Given the description of an element on the screen output the (x, y) to click on. 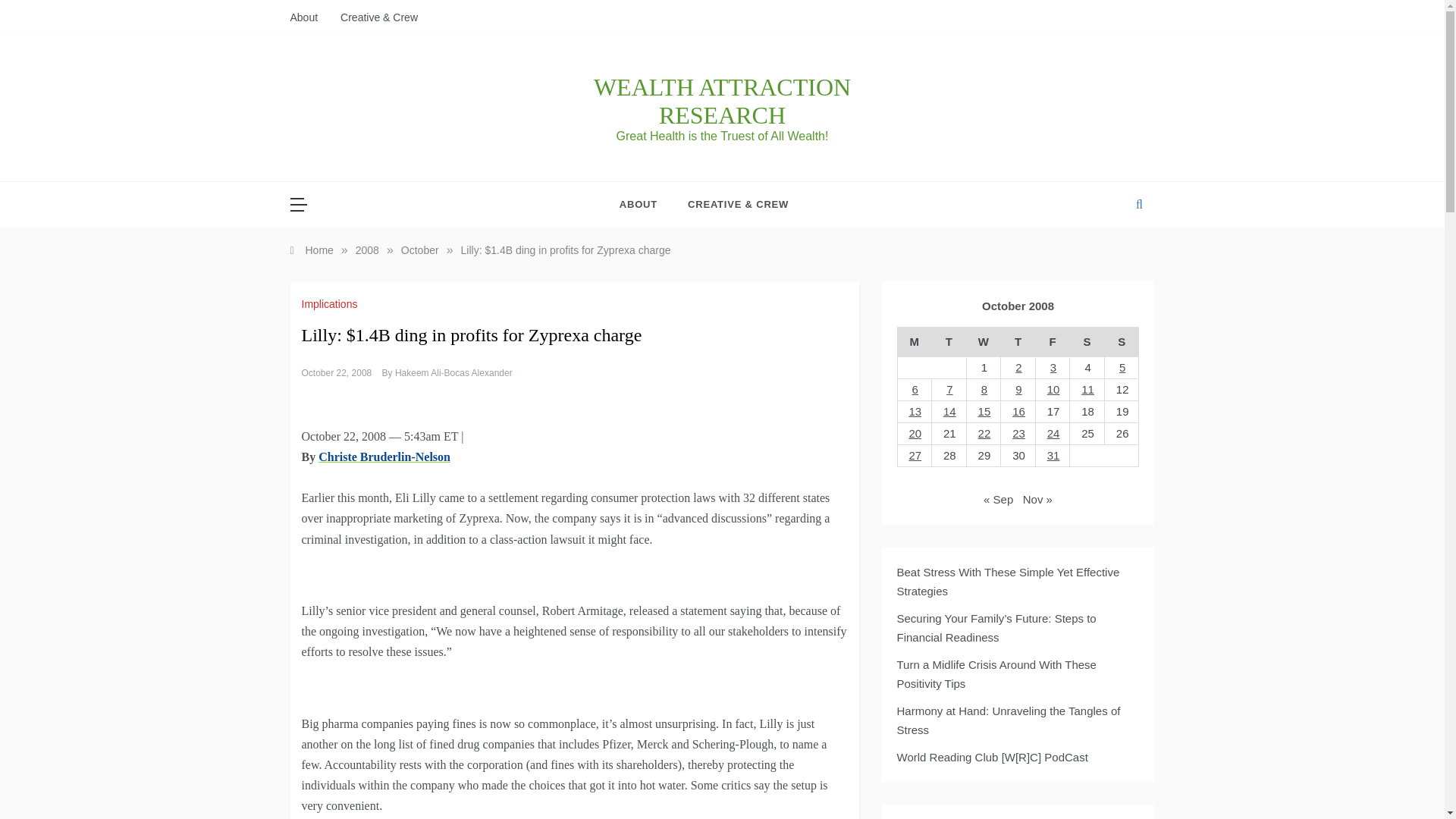
October (420, 250)
ABOUT (646, 204)
Wednesday (983, 342)
WEALTH ATTRACTION RESEARCH (722, 100)
Implications (331, 304)
Thursday (1018, 342)
2008 (366, 250)
About (309, 17)
October 22, 2008 (336, 372)
Home (311, 250)
Saturday (1087, 342)
Friday (1052, 342)
Tuesday (948, 342)
Christe Bruderlin-Nelson (383, 456)
Hakeem Ali-Bocas Alexander (453, 372)
